Given the description of an element on the screen output the (x, y) to click on. 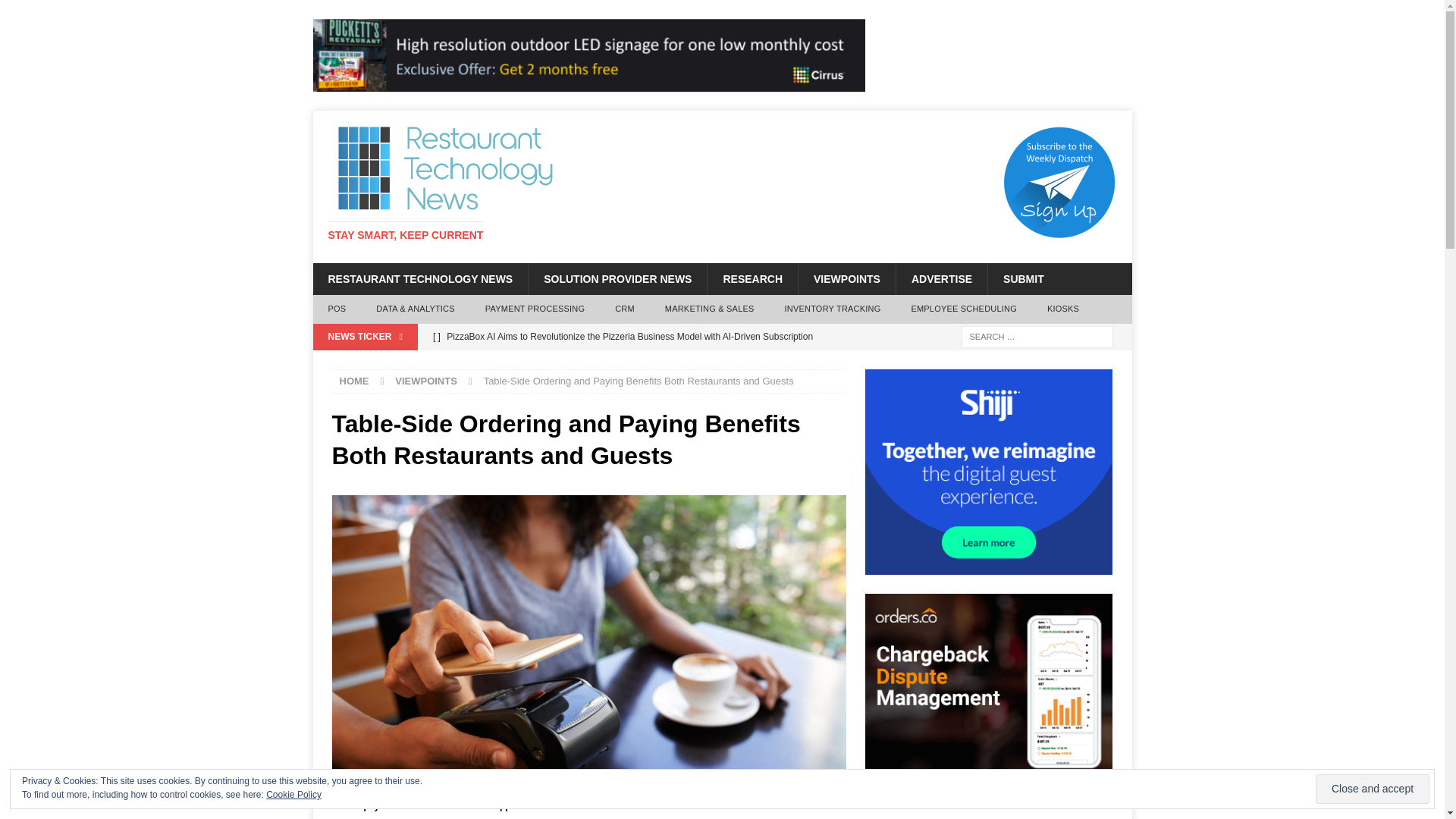
Close and accept (1372, 788)
CRM (624, 308)
RESTAURANT TECHNOLOGY NEWS (420, 278)
SOLUTION PROVIDER NEWS (616, 278)
Search (56, 11)
VIEWPOINTS (846, 278)
KIOSKS (1063, 308)
EMPLOYEE SCHEDULING (963, 308)
HOME (354, 380)
INVENTORY TRACKING (833, 308)
VIEWPOINTS (425, 380)
STAY SMART, KEEP CURRENT (405, 234)
SUBMIT (1023, 278)
RESEARCH (751, 278)
